Given the description of an element on the screen output the (x, y) to click on. 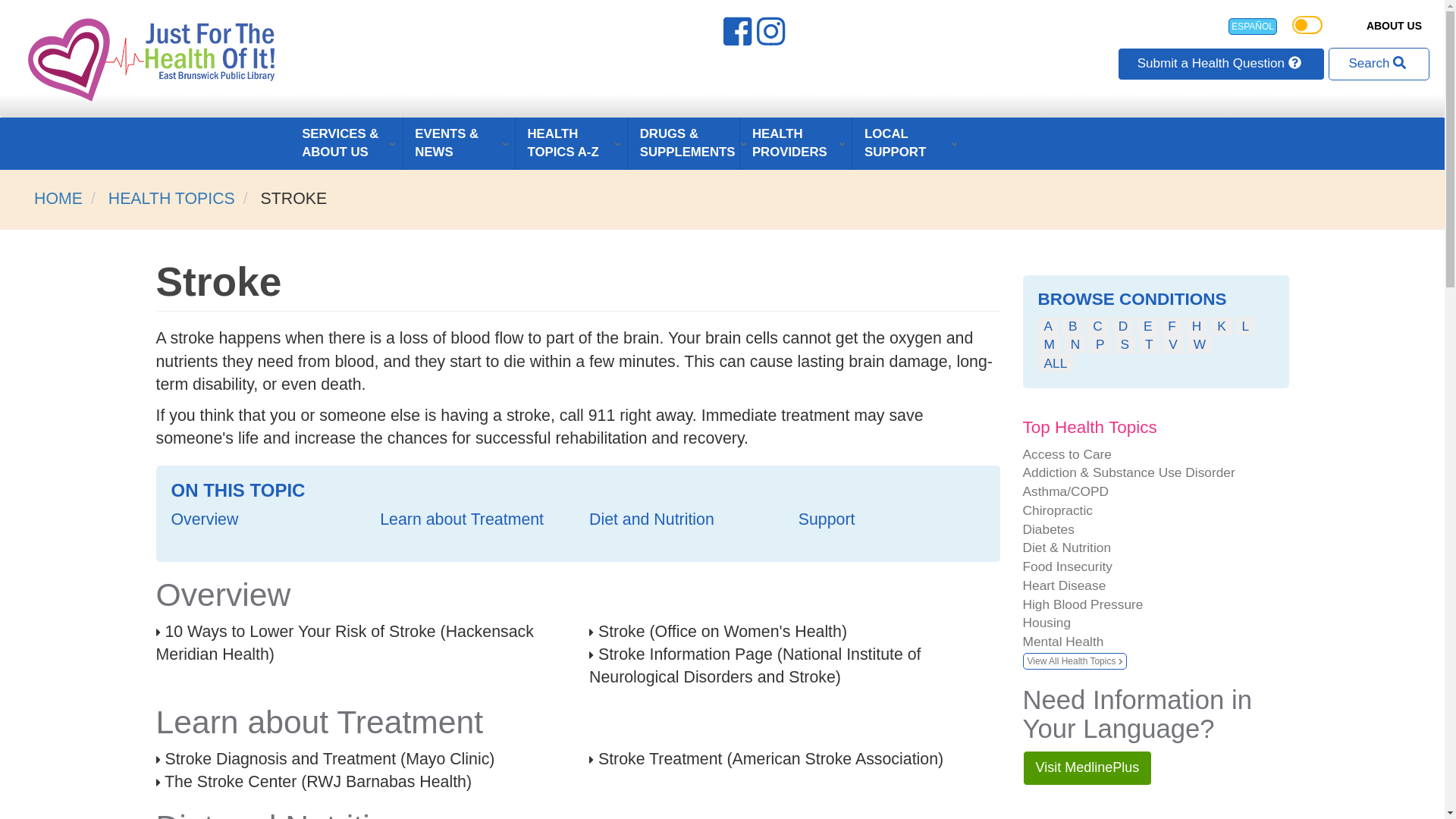
HEALTH TOPICS A-Z (571, 143)
Follow us on Facebook (739, 37)
Home (153, 58)
Follow us on Instagram (773, 37)
ABOUT US (1393, 25)
Submit a Health Question   (1221, 63)
Search   (1378, 63)
